Given the description of an element on the screen output the (x, y) to click on. 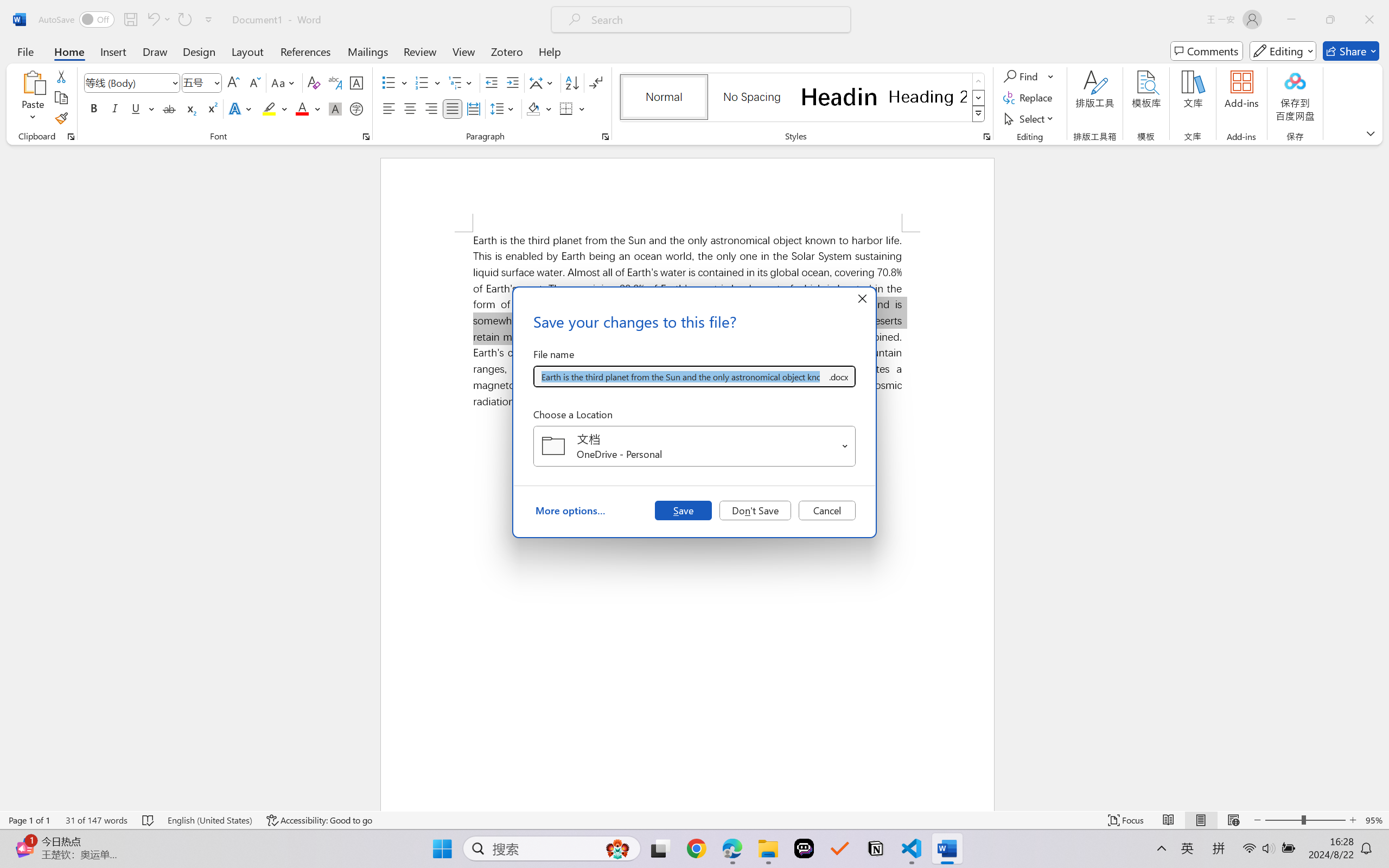
Font Color Red (302, 108)
Multilevel List (461, 82)
